Given the description of an element on the screen output the (x, y) to click on. 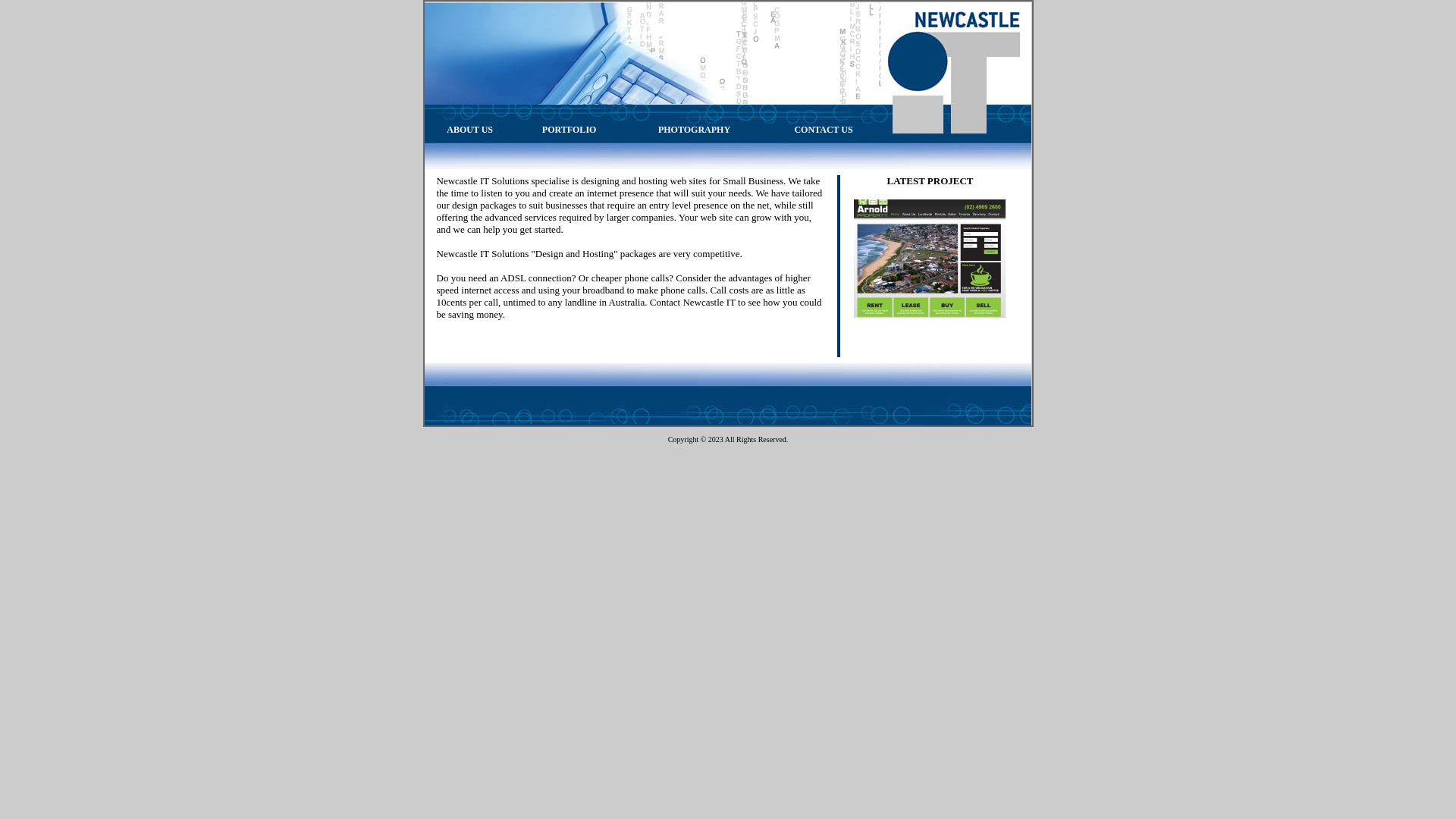
CONTACT US Element type: text (822, 129)
ABOUT US Element type: text (469, 129)
PORTFOLIO Element type: text (569, 129)
PHOTOGRAPHY Element type: text (694, 129)
